Given the description of an element on the screen output the (x, y) to click on. 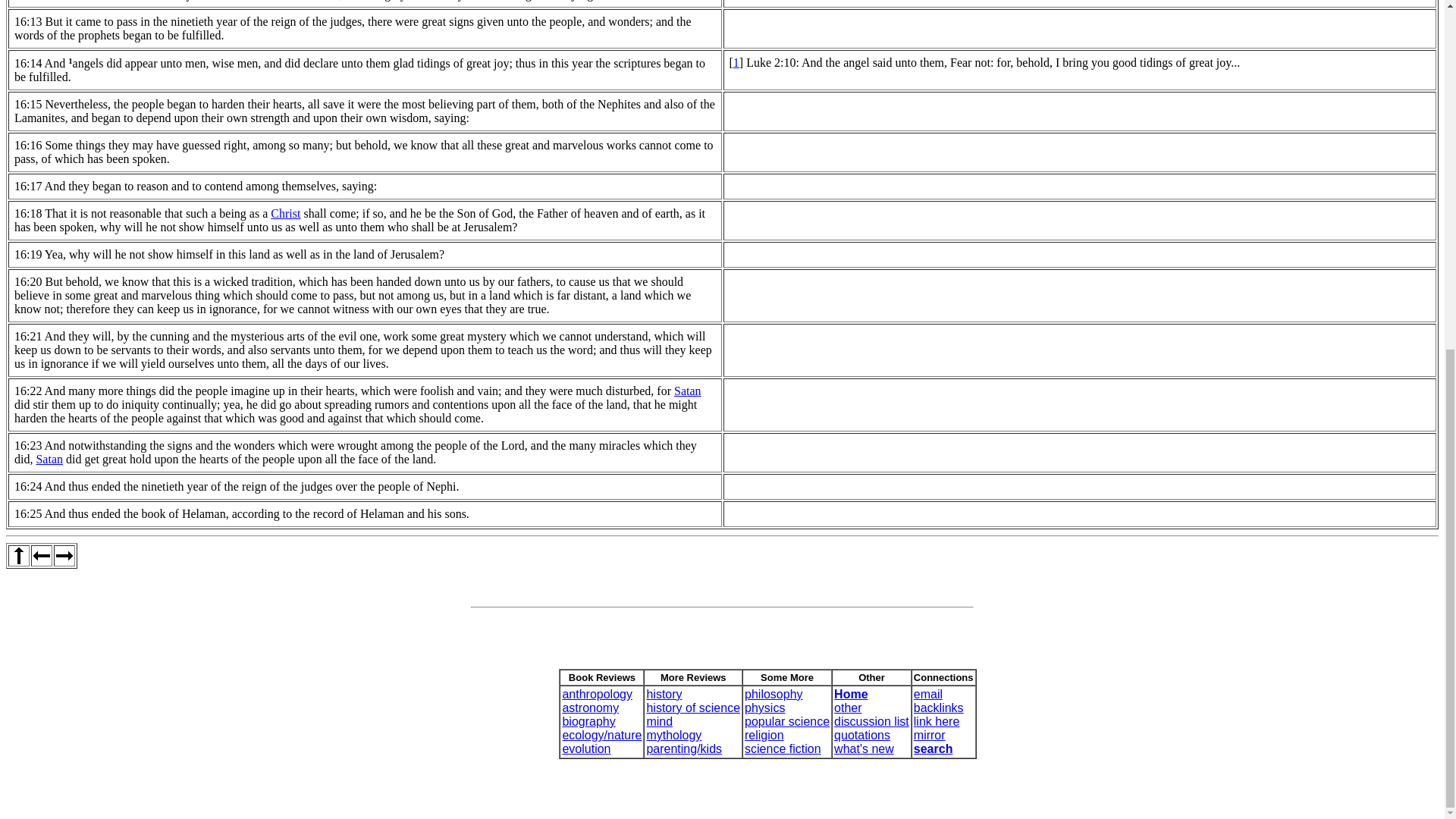
16:13 (28, 21)
Christ (284, 213)
16:21 (28, 336)
16:24 (28, 486)
16:16 (28, 144)
16:18 (28, 213)
16:20 (28, 281)
16:14 (28, 62)
16:17 (28, 185)
Satan (687, 390)
